Given the description of an element on the screen output the (x, y) to click on. 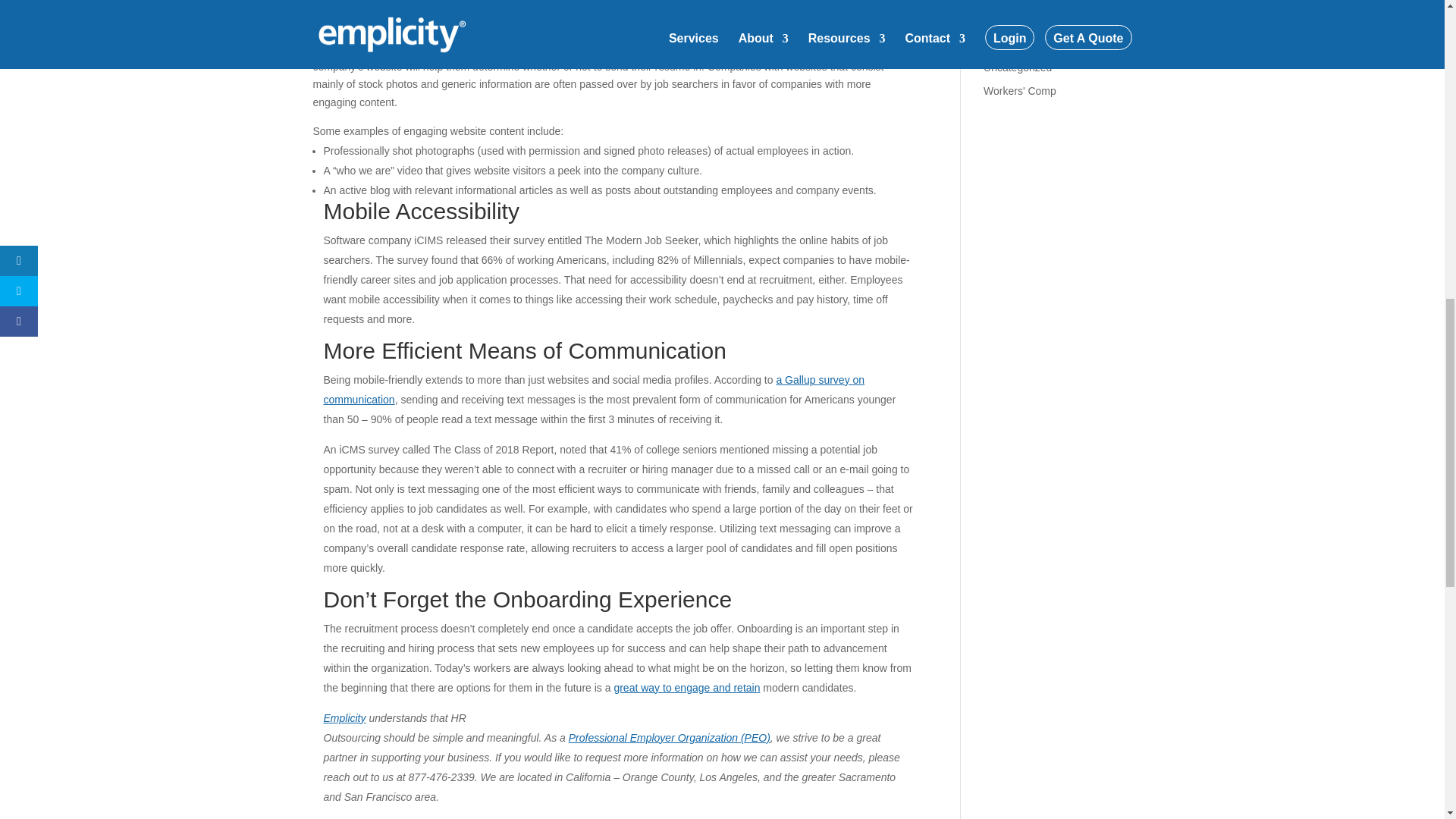
a Gallup survey on communication (593, 389)
great way to engage and retain (686, 687)
Emplicity (344, 717)
